Given the description of an element on the screen output the (x, y) to click on. 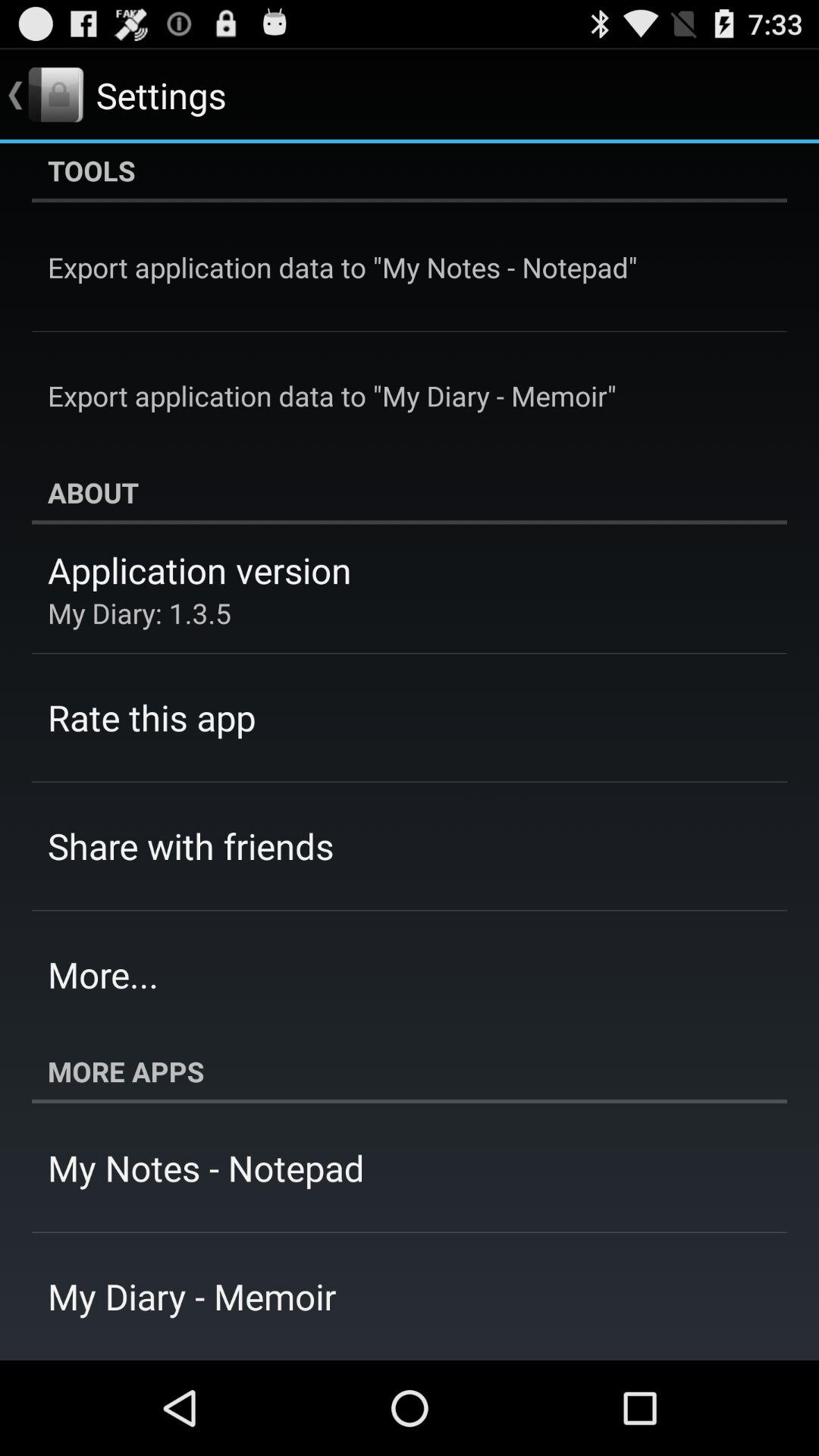
turn off the item below rate this app icon (190, 845)
